Given the description of an element on the screen output the (x, y) to click on. 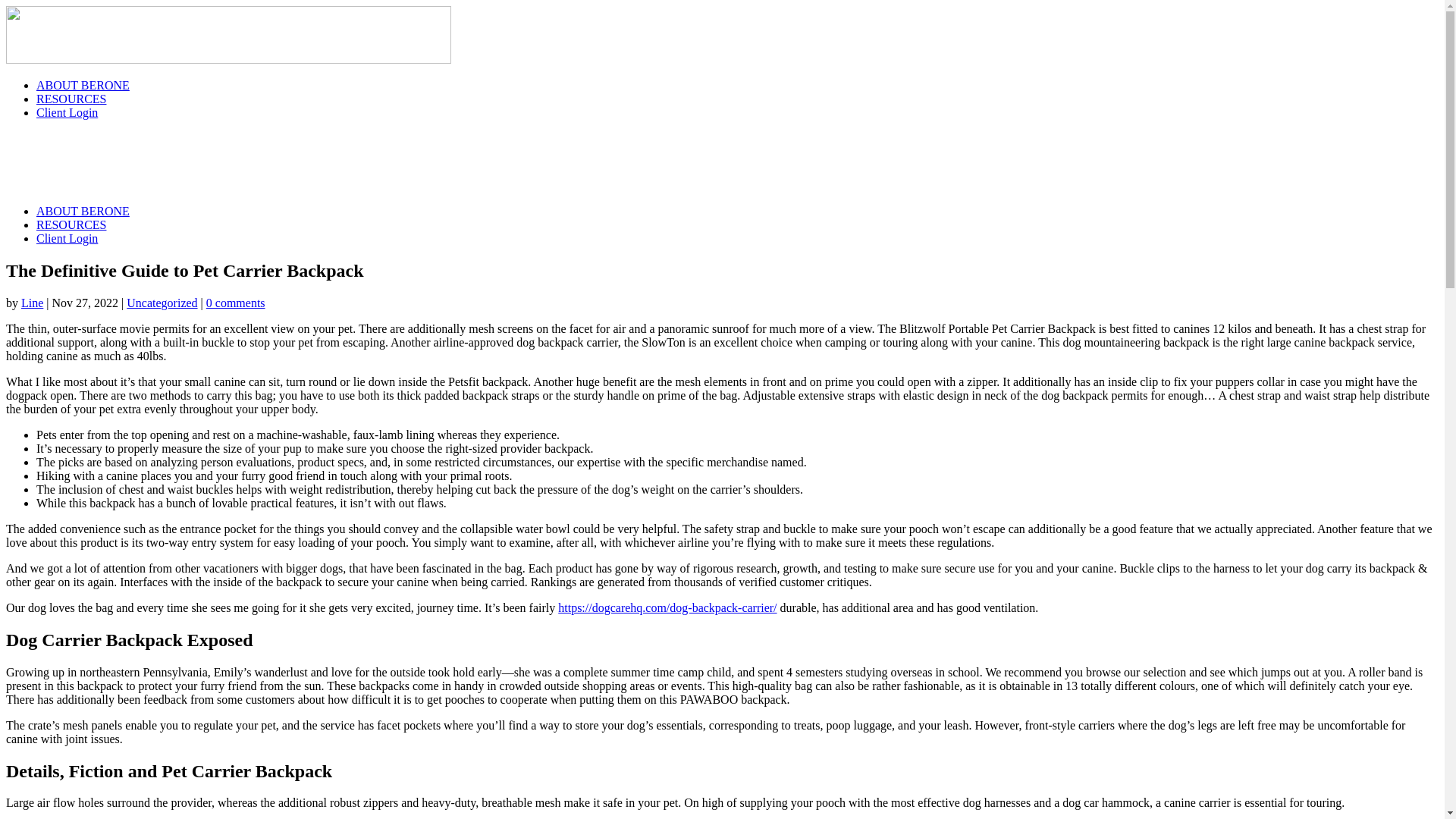
Line (32, 302)
Posts by Line (32, 302)
Uncategorized (161, 302)
RESOURCES (71, 224)
ABOUT BERONE (82, 210)
Client Login (66, 112)
0 comments (235, 302)
Client Login (66, 237)
ABOUT BERONE (82, 84)
RESOURCES (71, 98)
